Given the description of an element on the screen output the (x, y) to click on. 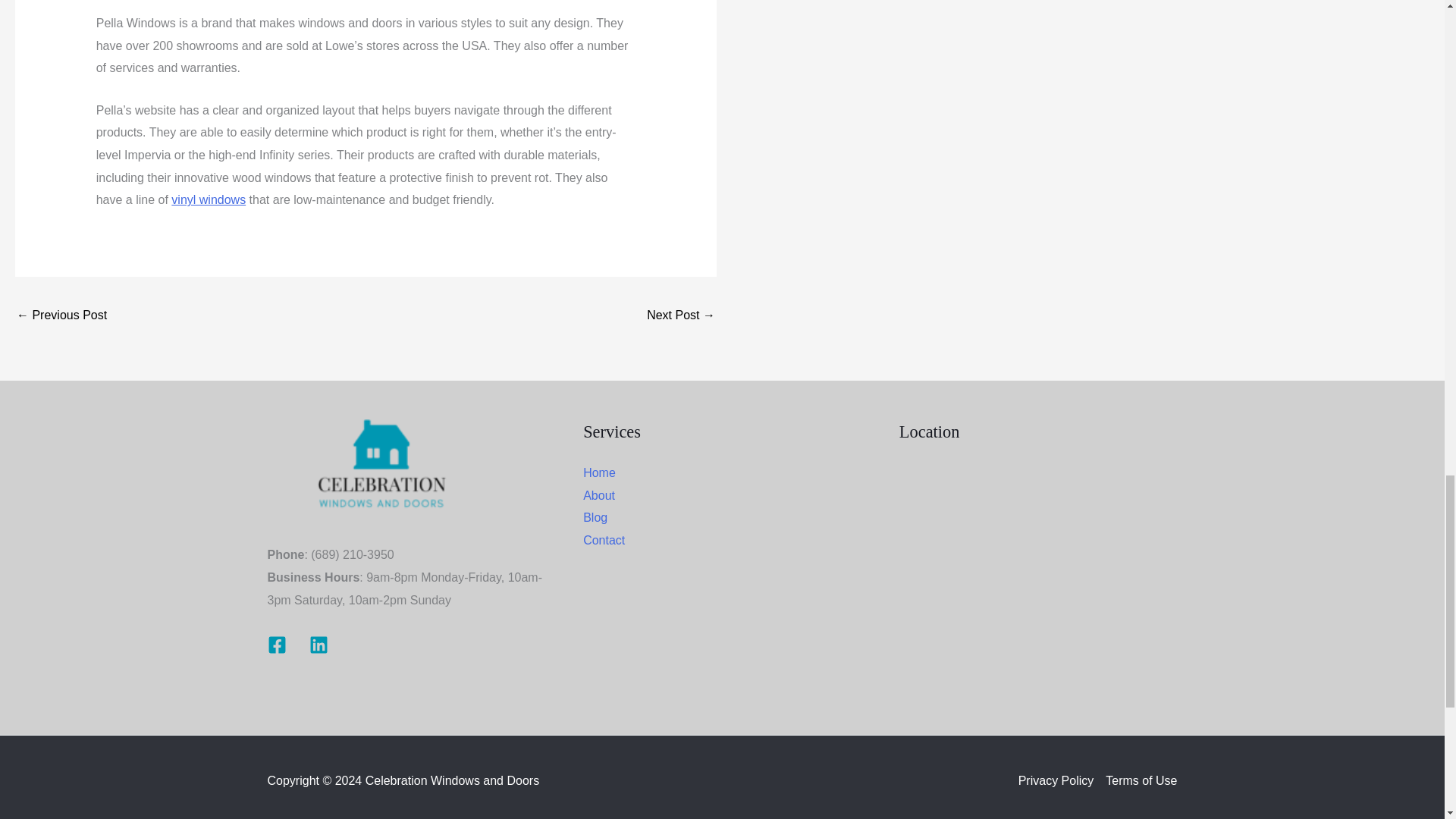
Custom Doors For Celebration FL (61, 316)
Choosing Front Entry Doors Celebration FL (680, 316)
